Given the description of an element on the screen output the (x, y) to click on. 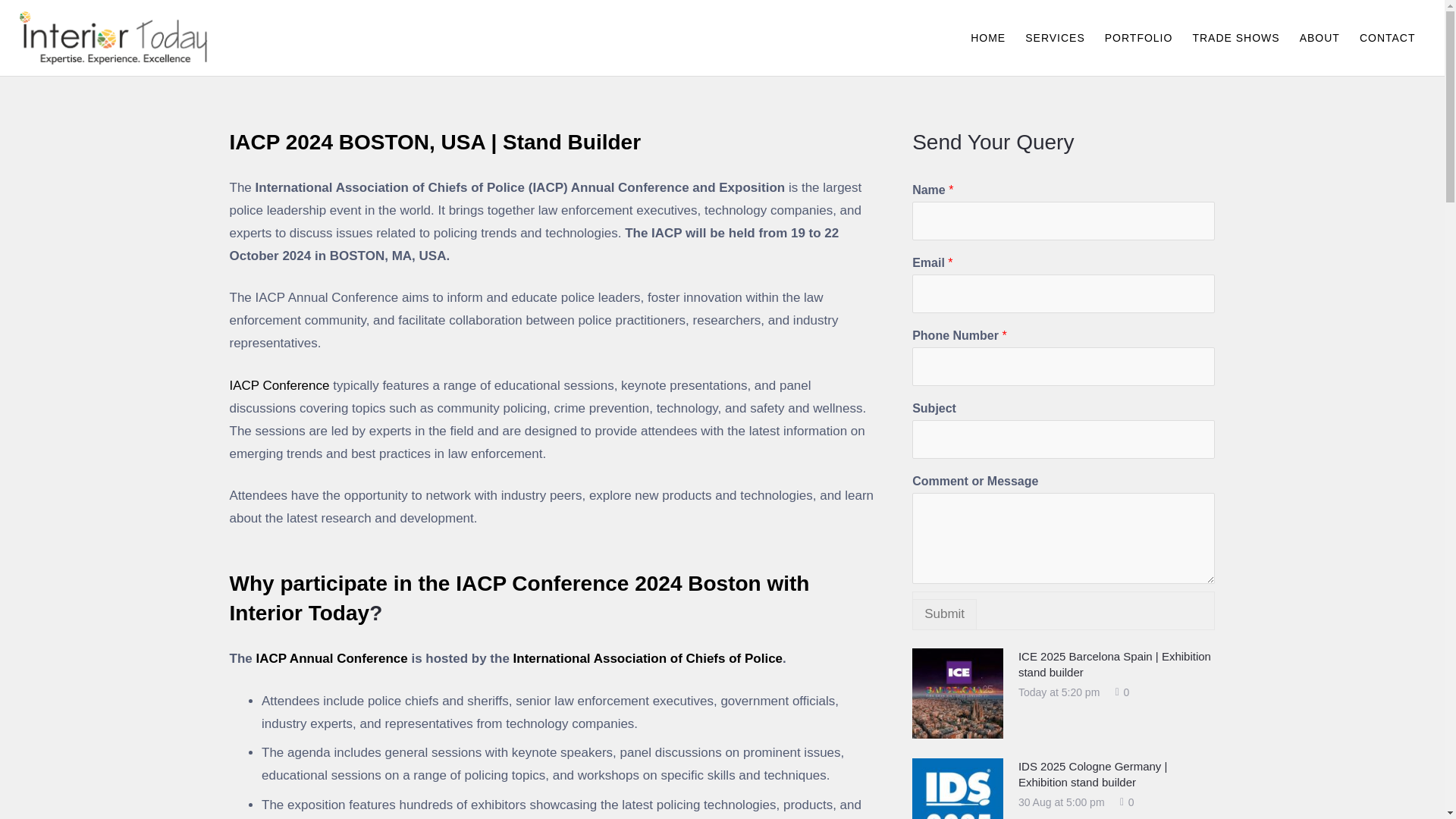
Submit (944, 613)
IACP Conference (278, 385)
PORTFOLIO (1138, 37)
ABOUT (1319, 37)
International Association of Chiefs of Police (648, 658)
TRADE SHOWS (1235, 37)
HOME (987, 37)
CONTACT (1387, 37)
IACP Annual Conference (329, 658)
